Given the description of an element on the screen output the (x, y) to click on. 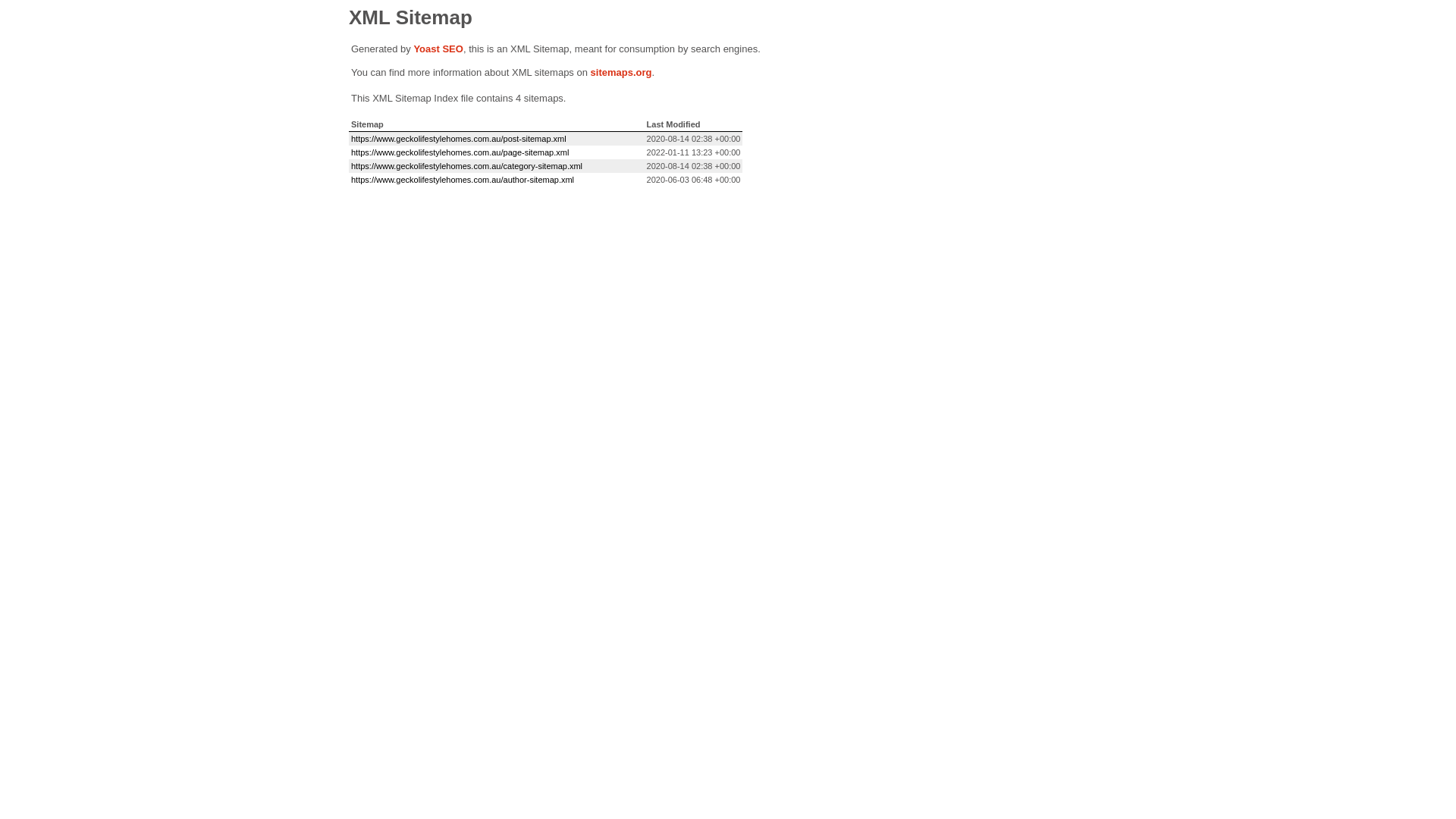
https://www.geckolifestylehomes.com.au/post-sitemap.xml Element type: text (458, 138)
https://www.geckolifestylehomes.com.au/page-sitemap.xml Element type: text (459, 151)
sitemaps.org Element type: text (621, 72)
https://www.geckolifestylehomes.com.au/author-sitemap.xml Element type: text (462, 179)
https://www.geckolifestylehomes.com.au/category-sitemap.xml Element type: text (466, 165)
Yoast SEO Element type: text (438, 48)
